Given the description of an element on the screen output the (x, y) to click on. 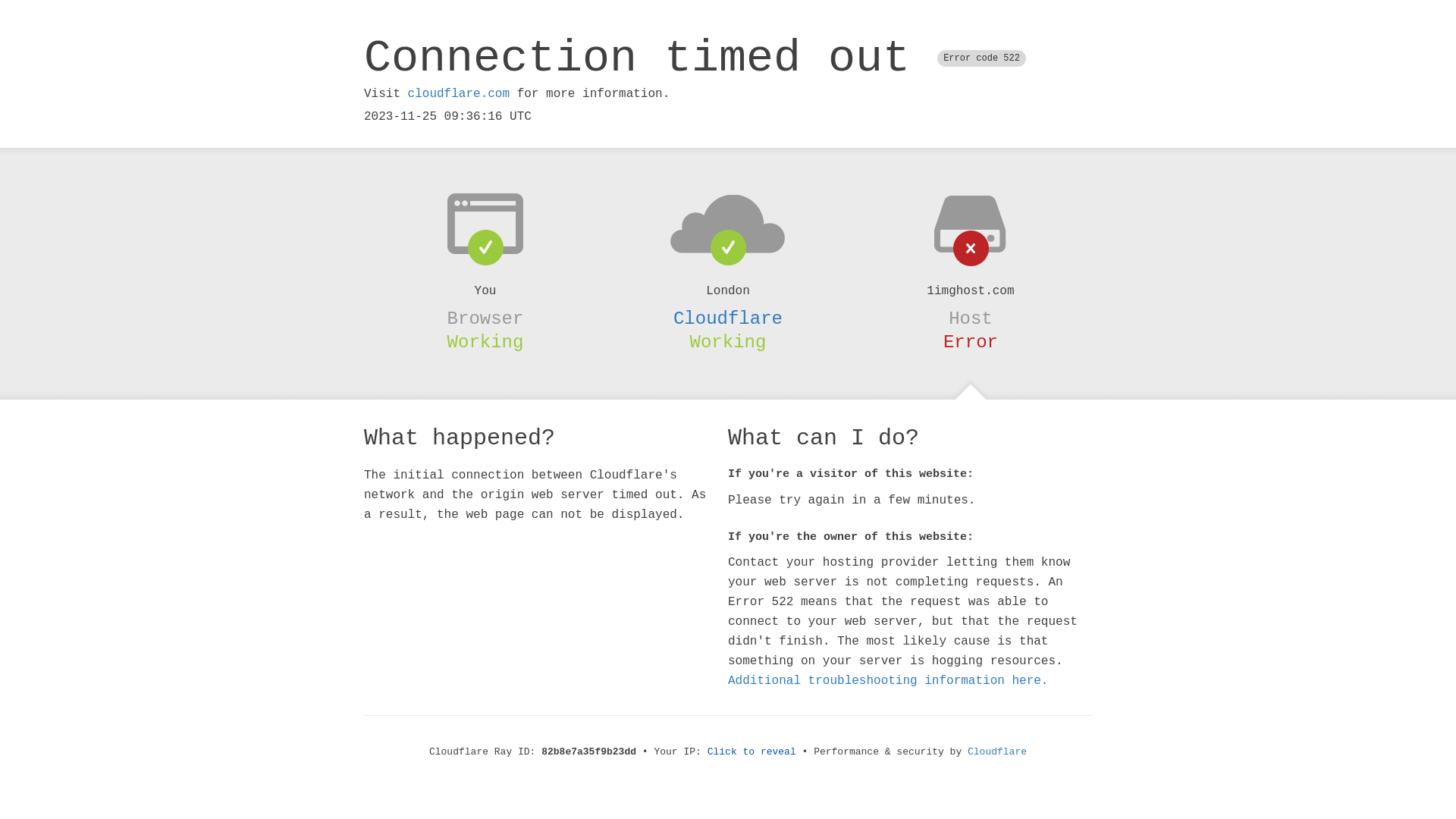
Cloudflare Element type: text (727, 318)
Additional troubleshooting information here. Element type: text (888, 680)
Click to reveal Element type: text (751, 751)
Cloudflare Element type: text (996, 751)
cloudflare.com Element type: text (458, 93)
